Given the description of an element on the screen output the (x, y) to click on. 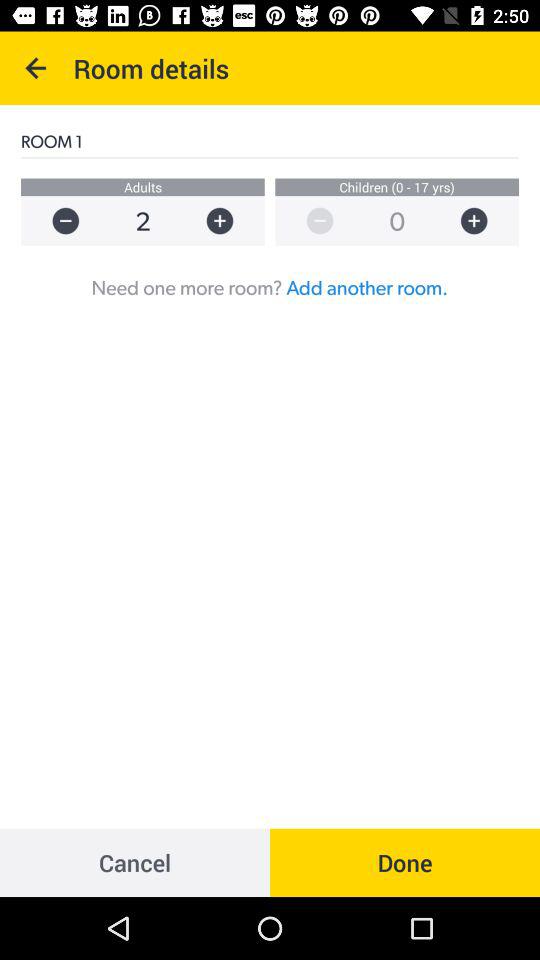
press the icon to the right of cancel (405, 862)
